Given the description of an element on the screen output the (x, y) to click on. 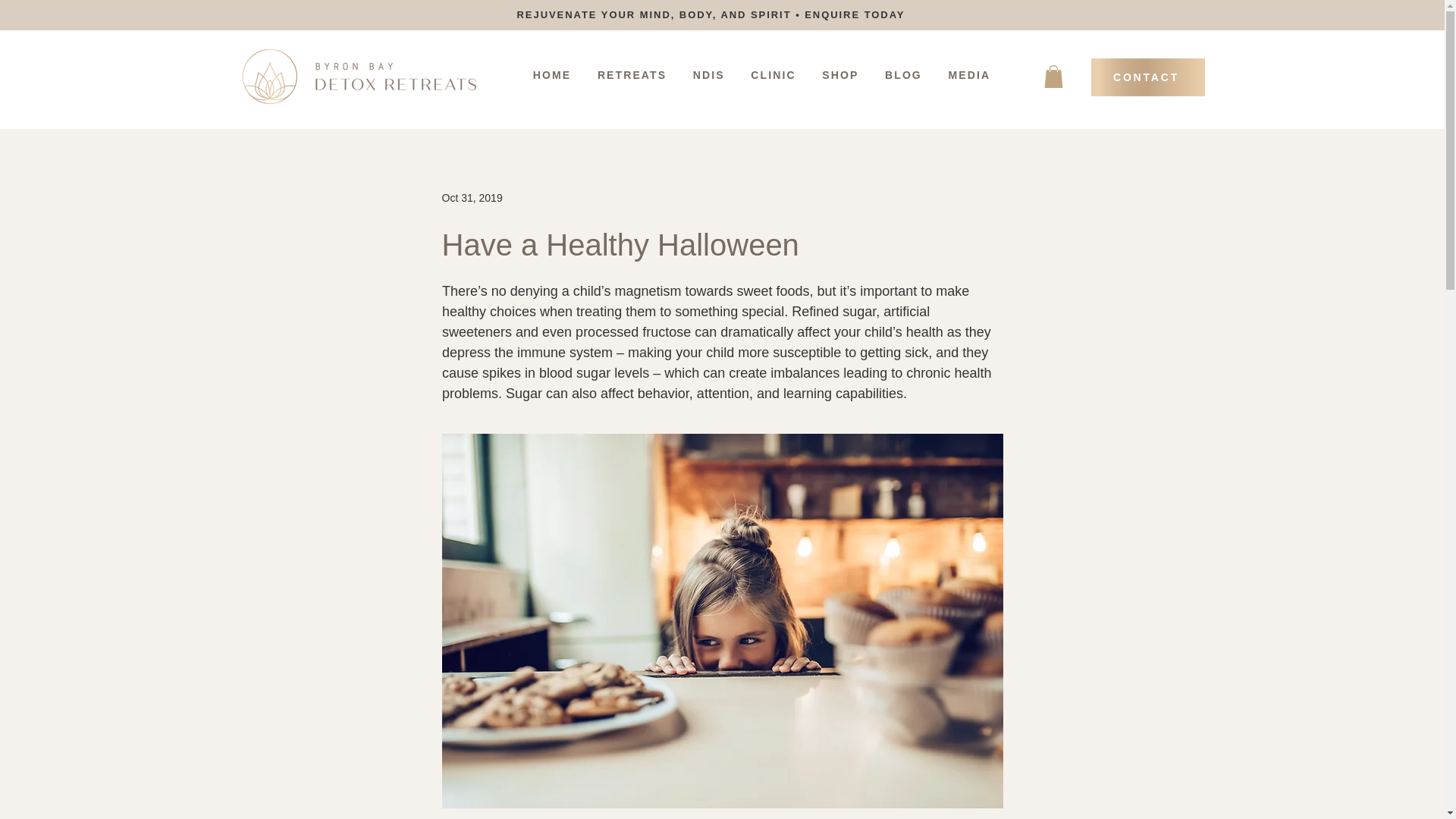
MEDIA (968, 74)
NDIS (708, 74)
CONTACT (1147, 77)
Oct 31, 2019 (471, 197)
SHOP (840, 74)
HOME (551, 74)
RETREATS (632, 74)
CLINIC (773, 74)
BLOG (904, 74)
